Given the description of an element on the screen output the (x, y) to click on. 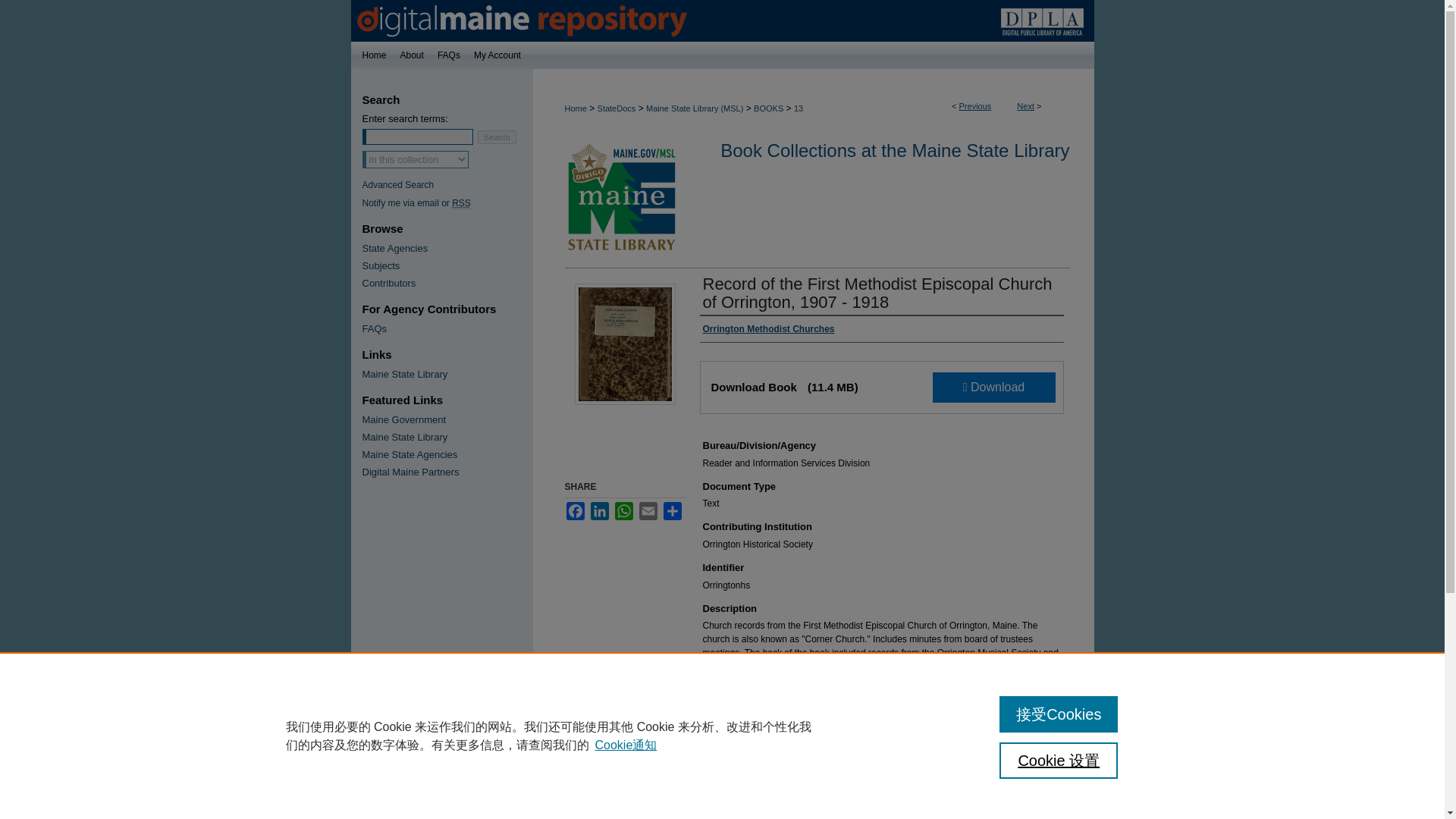
Book Collections at the Maine State Library (894, 150)
FAQs (448, 54)
My Account (503, 54)
WhatsApp (622, 511)
BOOKS (768, 108)
Home (575, 108)
Subjects (447, 265)
LinkedIn (599, 511)
Home (371, 54)
Browse by Subjects (447, 265)
Digital Maine (721, 20)
About (411, 54)
Search (496, 137)
FAQs (448, 54)
StateDocs (616, 108)
